Given the description of an element on the screen output the (x, y) to click on. 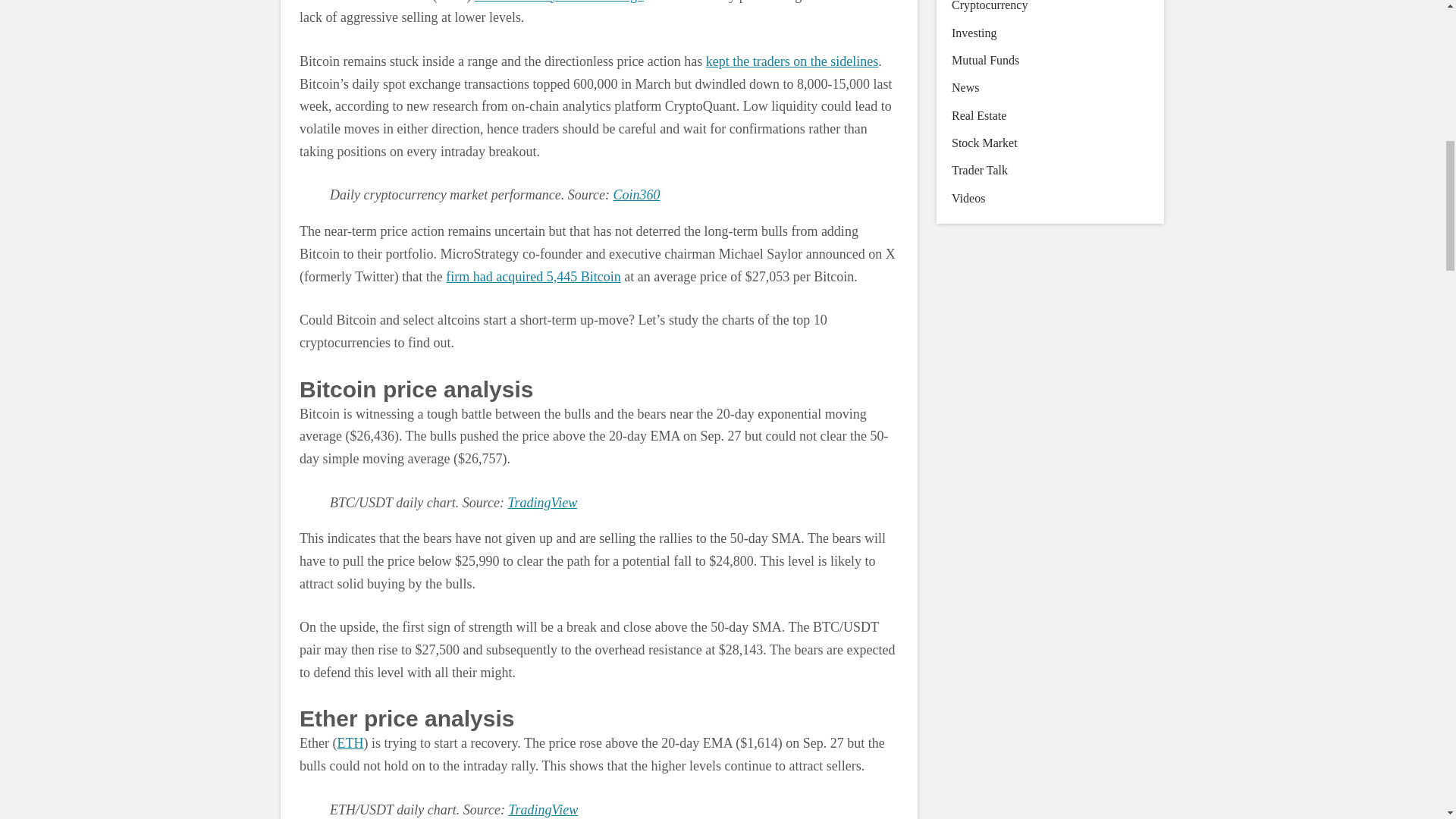
rose to a new year-to-date high (558, 1)
kept the traders on the sidelines (791, 61)
Coin360 (636, 194)
